Given the description of an element on the screen output the (x, y) to click on. 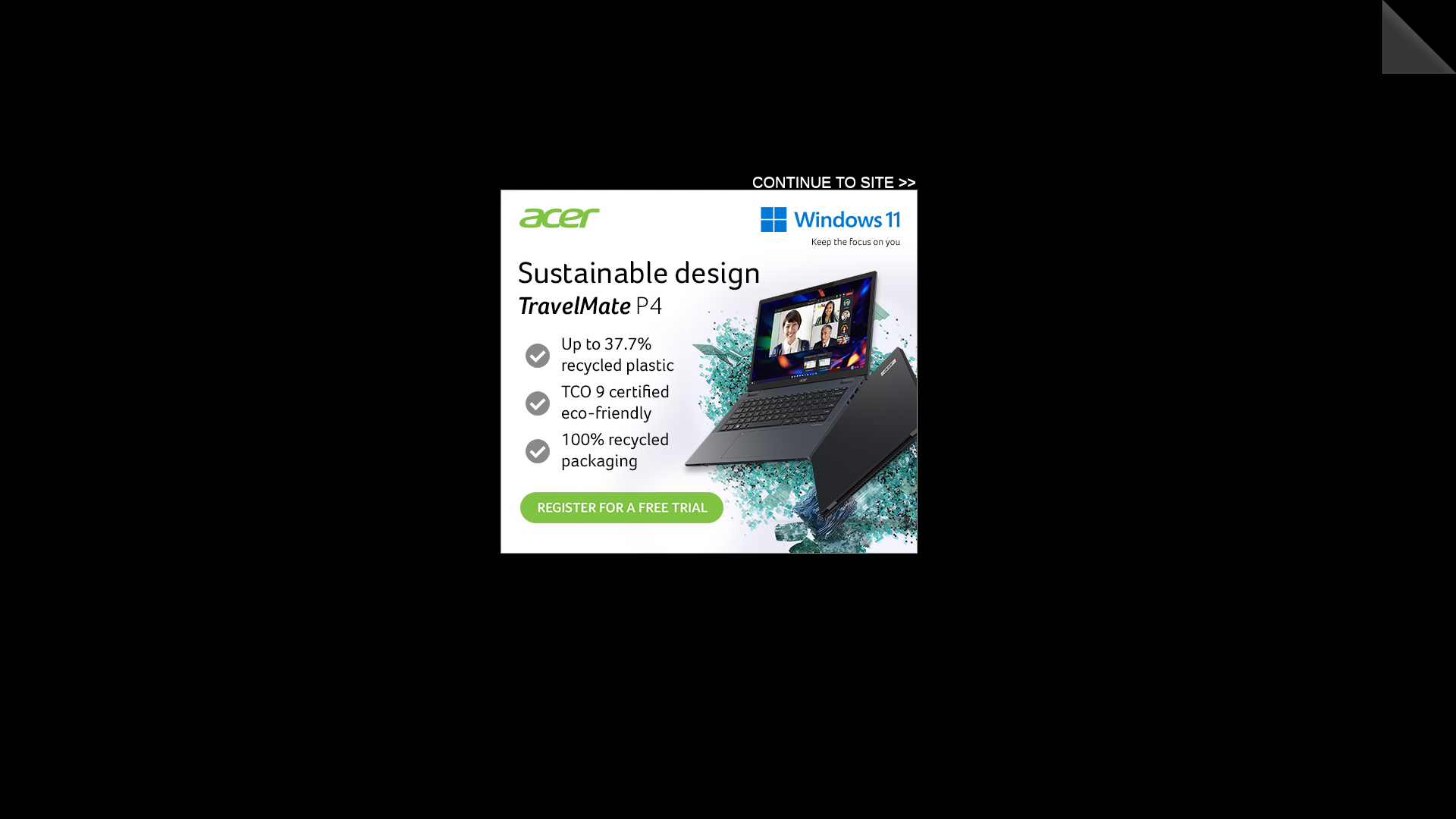
Conveyors Element type: text (608, 770)
Sustainability Matters Element type: hover (365, 56)
Bags Element type: text (595, 681)
Bio-reactors Element type: text (372, 696)
Compressors, Air Element type: text (384, 740)
CONTINUE TO SITE >> Element type: text (834, 181)
Chemicals Element type: text (368, 725)
Consultants Element type: text (610, 755)
CCTV / Inspection Element type: text (625, 711)
Categories Element type: text (435, 352)
Aeration Equipment Element type: text (390, 637)
Subscribe eNewsletter Element type: text (1089, 181)
Construction/Demolition/Debris/Equipment Element type: text (442, 755)
Air Separators & Classifiers Element type: text (646, 652)
3rd party ad content Element type: hover (495, 220)
Product brands Element type: text (531, 352)
Companies Element type: text (349, 352)
Air Pollution Control Element type: text (390, 652)
Air & Gas Scrubbers Element type: text (630, 637)
Products Element type: text (567, 184)
Blowers Element type: text (363, 711)
Water Element type: text (371, 135)
Resources Element type: text (506, 184)
Computer Software / Services Element type: text (652, 740)
Crushers Element type: text (604, 784)
Featured Articles Element type: text (1034, 481)
3rd party ad content Element type: hover (1242, 432)
www.enviropacific.com.au Element type: text (394, 551)
Data Acquisition Equipment Element type: text (407, 799)
3rd party ad content Element type: hover (1025, 341)
About Us Element type: text (682, 184)
Alarms & Monitoring Systems Element type: text (412, 667)
Wastewater Element type: text (432, 135)
3rd party ad content Element type: hover (708, 371)
3rd party ad content Element type: hover (842, 62)
02 4961 7100 Element type: text (362, 516)
The Magazine Element type: text (336, 184)
Energy Element type: text (321, 135)
Videos Element type: text (449, 184)
Desalination Plants Element type: text (627, 799)
Search Element type: text (805, 315)
Sustainability Element type: text (559, 135)
3rd party ad content Element type: hover (212, 432)
Asbestos Removal Element type: text (387, 681)
Containers Element type: text (370, 770)
Directions Element type: text (586, 568)
info@enviropacific.com.au Element type: text (396, 533)
Clarifiers Element type: text (603, 725)
Analysers, Metal Element type: text (621, 667)
Directory Element type: text (624, 184)
Bio-remediation Element type: text (619, 696)
Events Element type: text (402, 184)
Waste Element type: text (494, 135)
Couplings, Pipe Element type: text (381, 784)
